Given the description of an element on the screen output the (x, y) to click on. 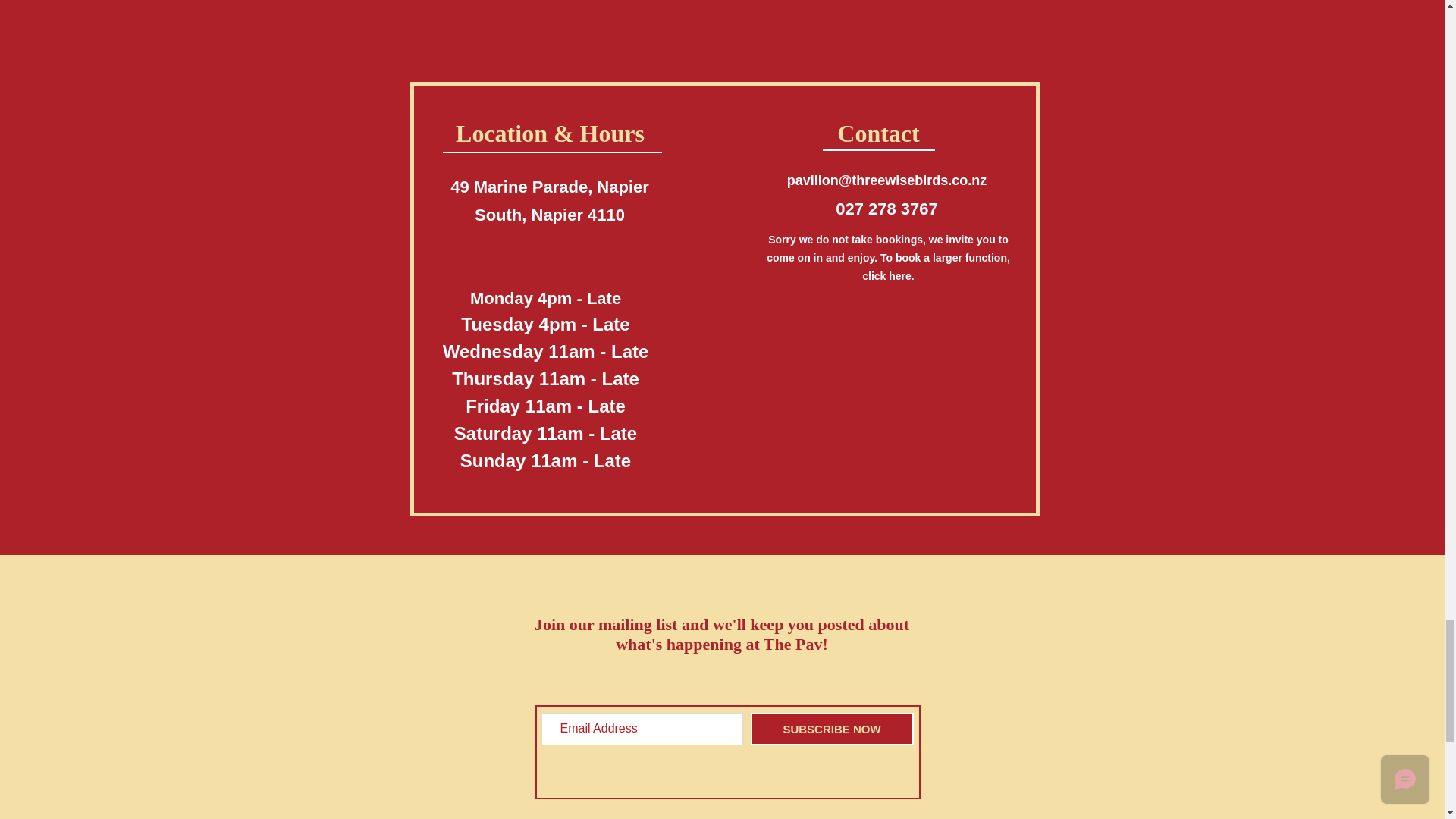
SUBSCRIBE NOW (832, 728)
Google Maps (888, 372)
click here. (887, 275)
